Given the description of an element on the screen output the (x, y) to click on. 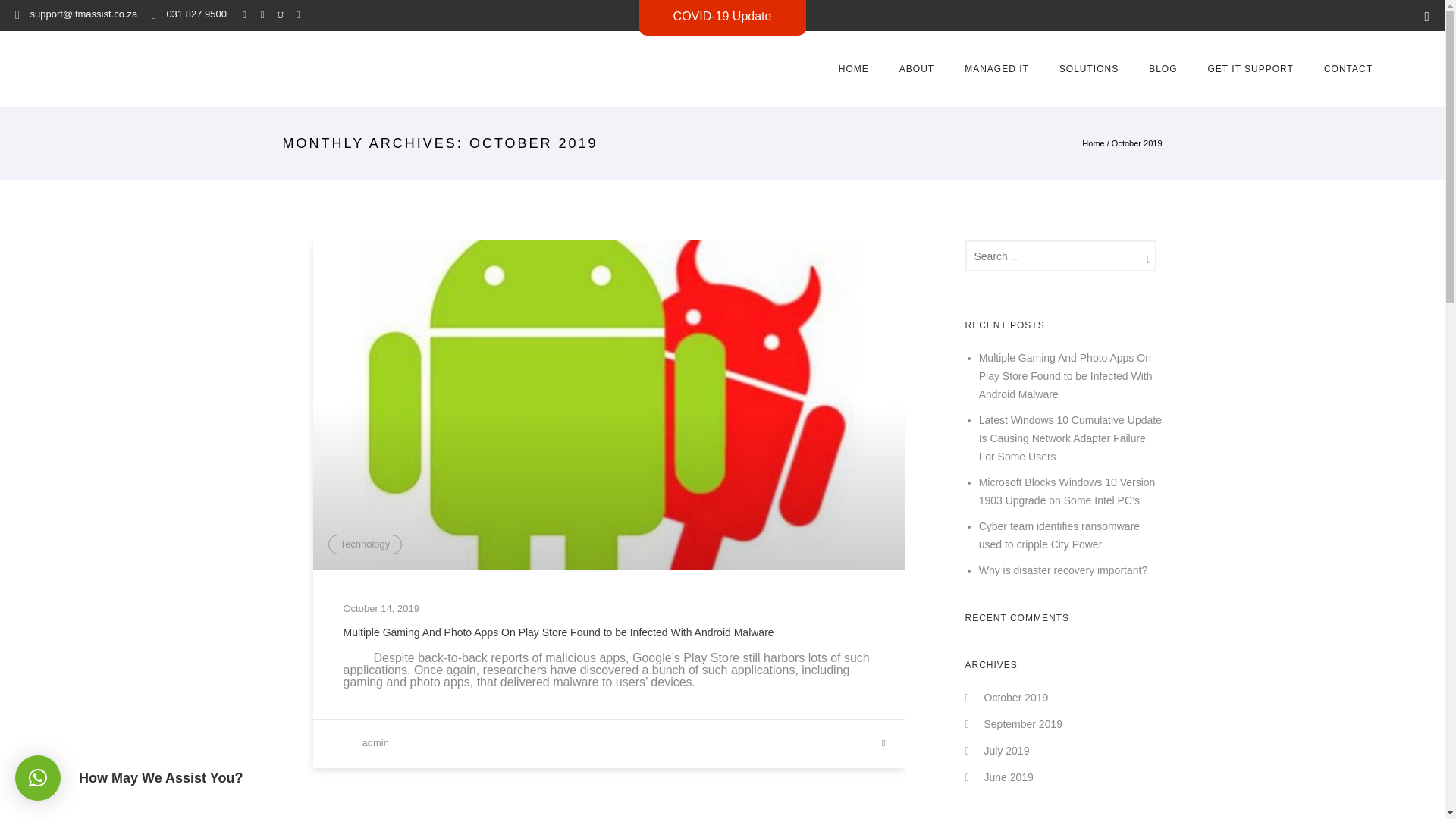
Contact (1347, 68)
BLOG (1163, 68)
GET IT SUPPORT (1250, 68)
Home (1092, 143)
Technology (364, 544)
About (916, 68)
CONTACT (1347, 68)
Blog (1163, 68)
MANAGED IT (996, 68)
